Given the description of an element on the screen output the (x, y) to click on. 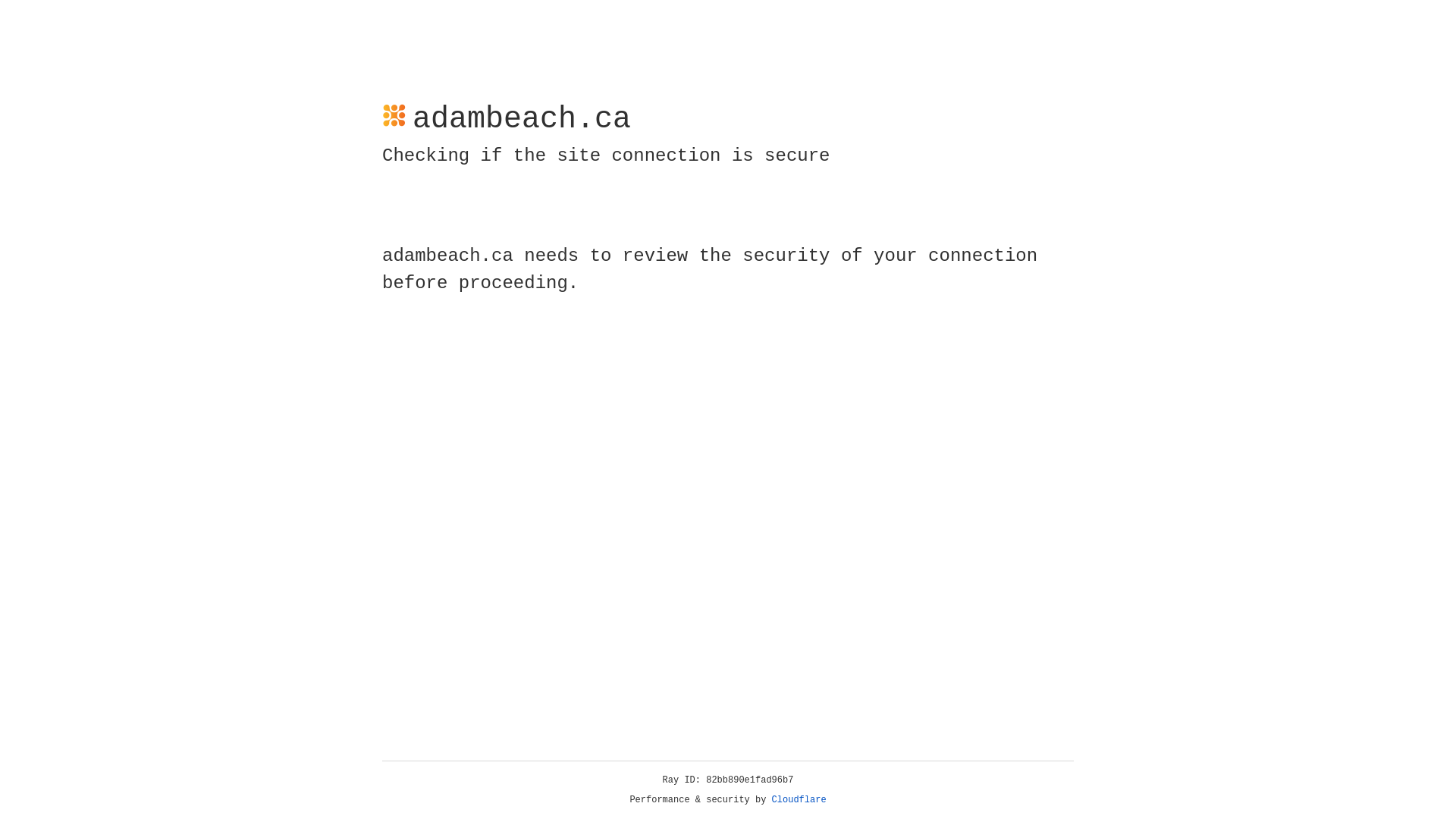
Cloudflare Element type: text (798, 799)
